Given the description of an element on the screen output the (x, y) to click on. 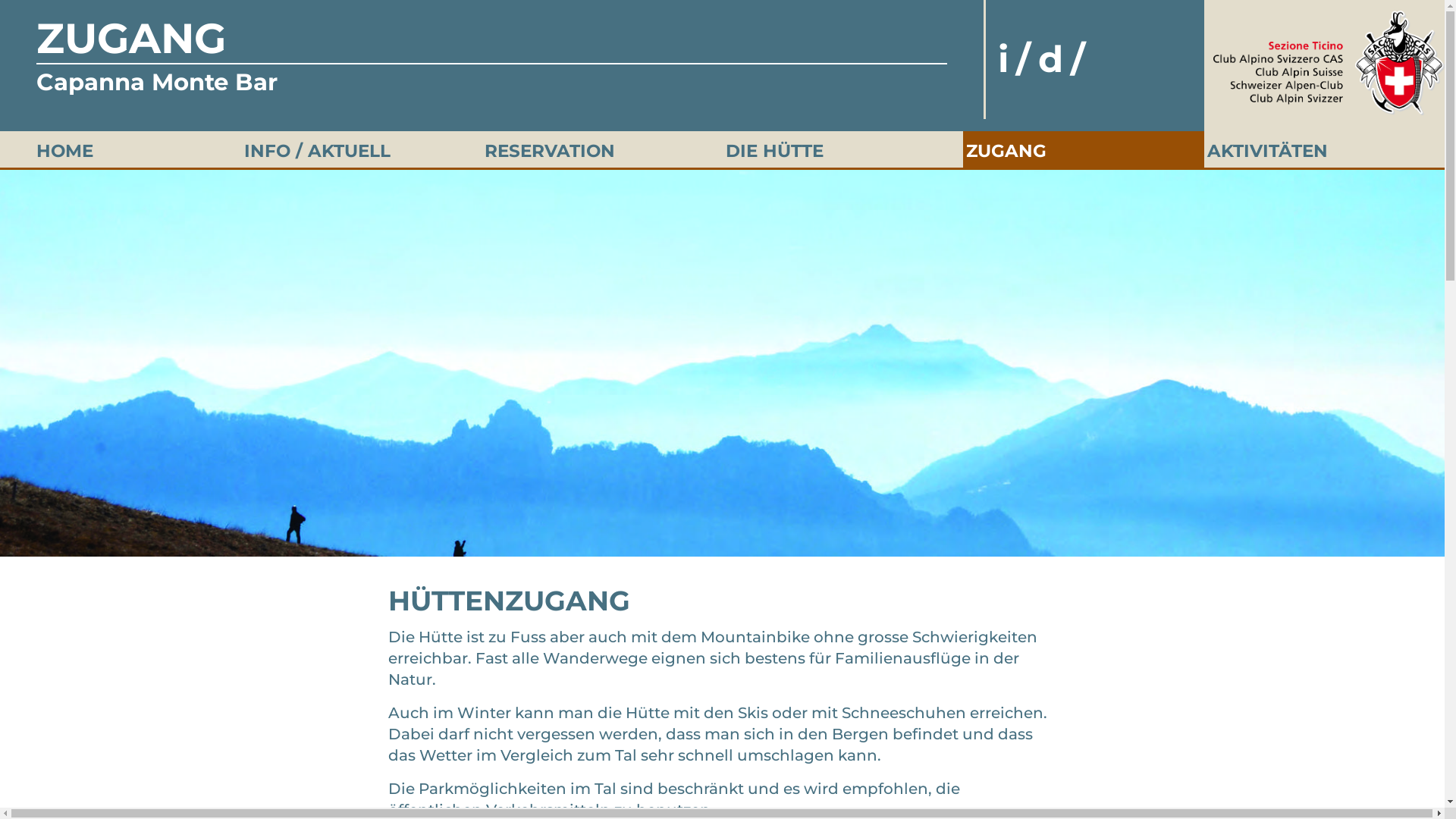
ZUGANG Element type: text (1006, 150)
HOME Element type: text (64, 150)
RESERVATION Element type: text (549, 150)
Capanna Monte Bar Element type: text (156, 88)
i/ Element type: text (1017, 59)
d/ Element type: text (1065, 59)
INFO / AKTUELL Element type: text (317, 150)
